Given the description of an element on the screen output the (x, y) to click on. 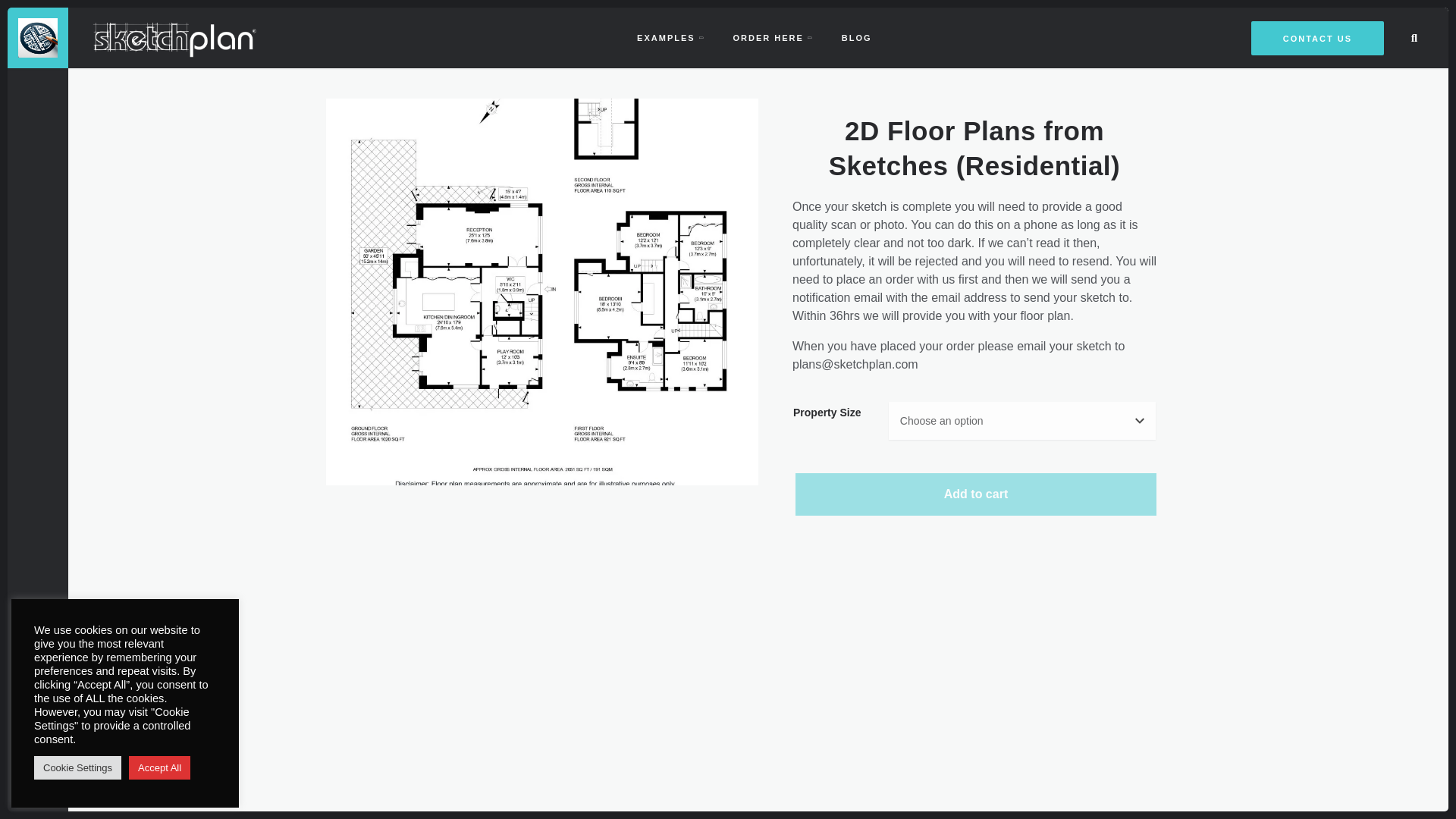
Cookie Settings (76, 767)
CONTACT US (1317, 38)
Add to cart (975, 494)
ORDER HERE (771, 38)
BLOG (856, 38)
Accept All (159, 767)
EXAMPLES (669, 38)
